Given the description of an element on the screen output the (x, y) to click on. 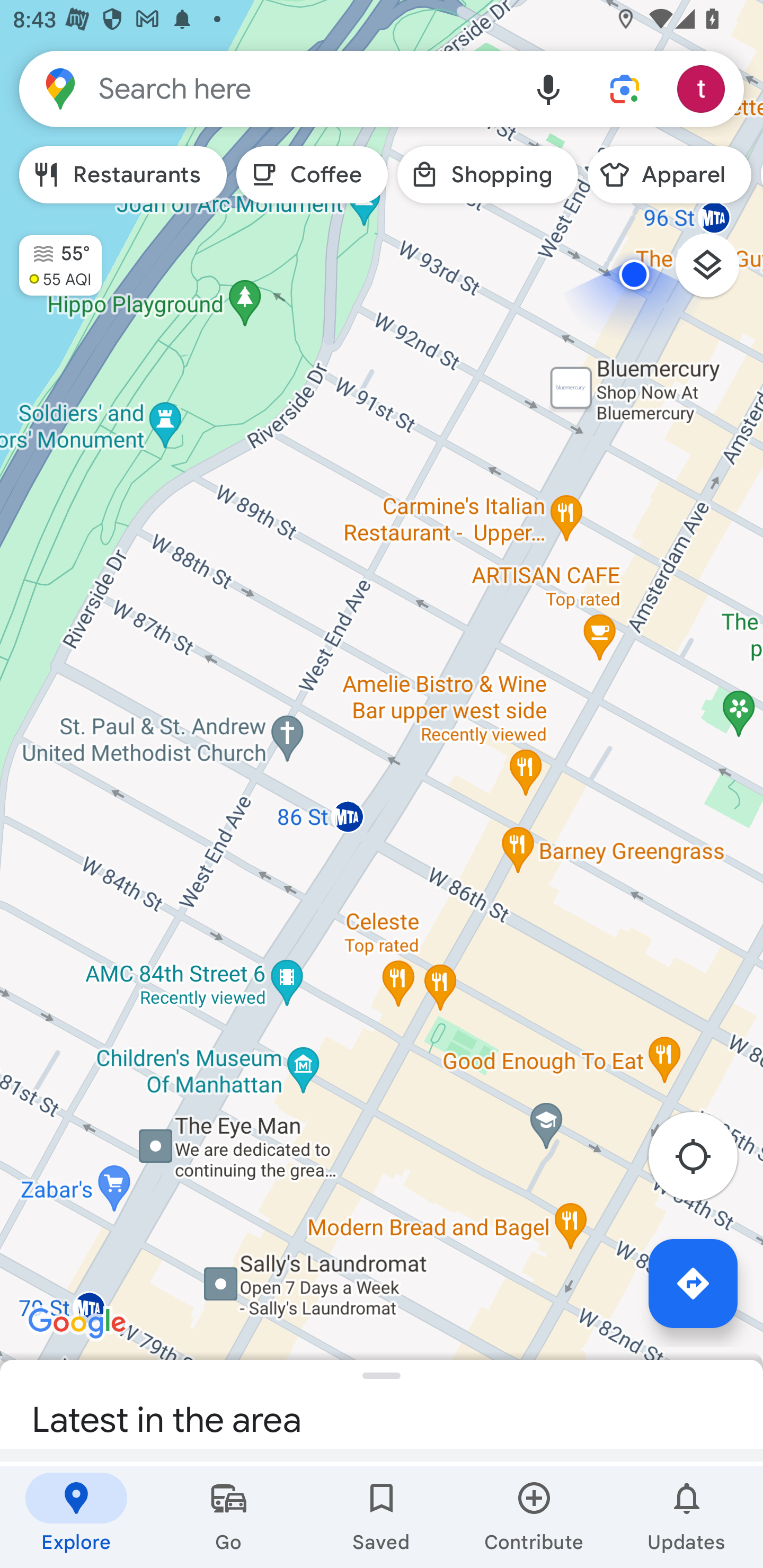
Search here (264, 88)
Voice search (548, 88)
Lens in Maps (624, 88)
Restaurants Search for Restaurants (122, 174)
Coffee Search for Coffee (311, 174)
Shopping Search for Shopping (487, 174)
Apparel Search for Apparel (669, 174)
Mist, 55°, Moderate, 55 AQI 55° 55 AQI (50, 257)
Layers (716, 271)
Re-center map to your location (702, 1161)
Directions (692, 1283)
Go (228, 1517)
Saved (381, 1517)
Contribute (533, 1517)
Updates (686, 1517)
